Given the description of an element on the screen output the (x, y) to click on. 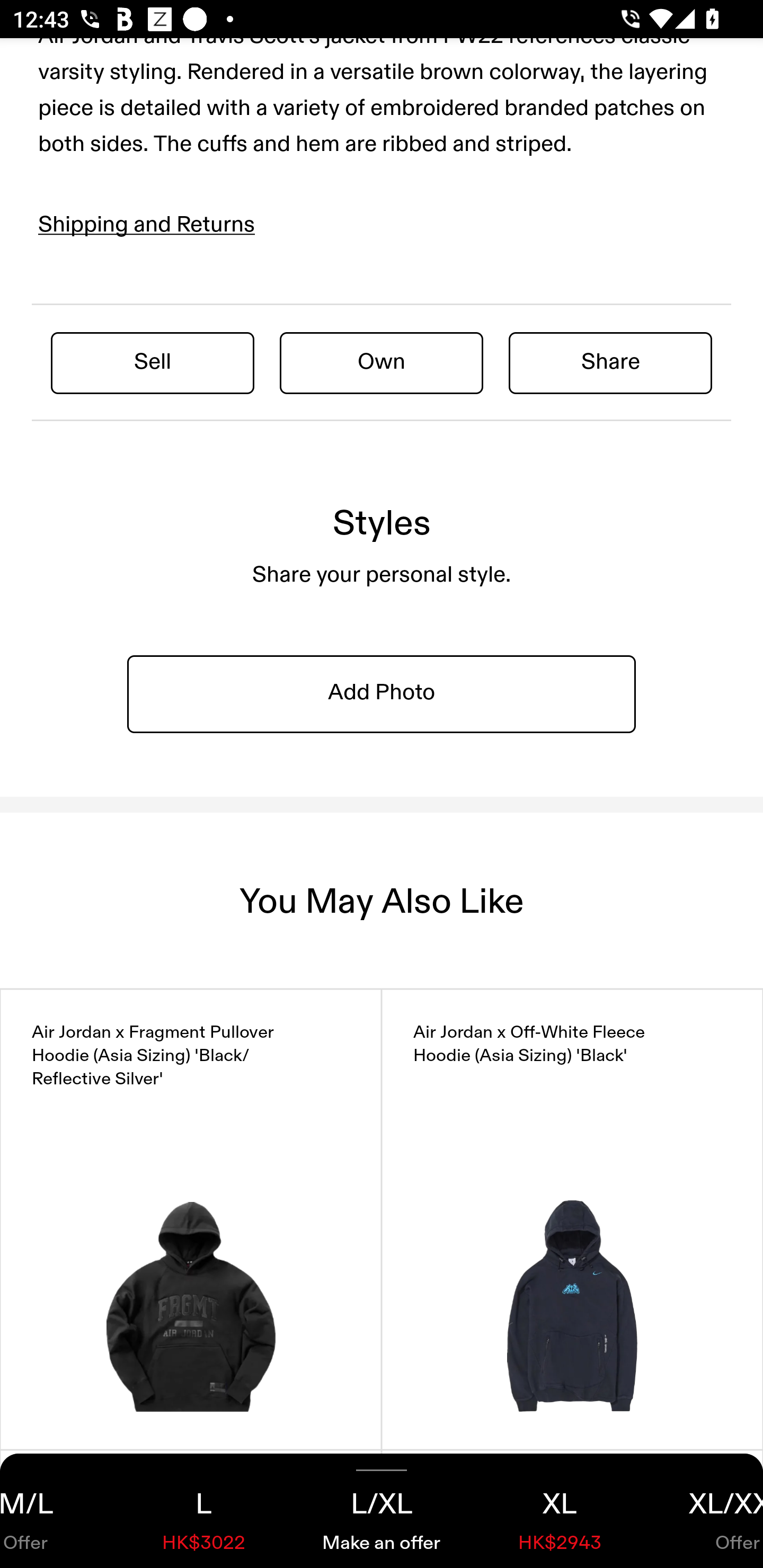
Shipping and Returns (146, 224)
Sell (152, 361)
Own (381, 361)
Share (609, 361)
Add Photo (381, 693)
M/L Offer (57, 1510)
L HK$3022 (203, 1510)
L/XL Make an offer (381, 1510)
XL HK$2943 (559, 1510)
XL/XXL Offer (705, 1510)
